Given the description of an element on the screen output the (x, y) to click on. 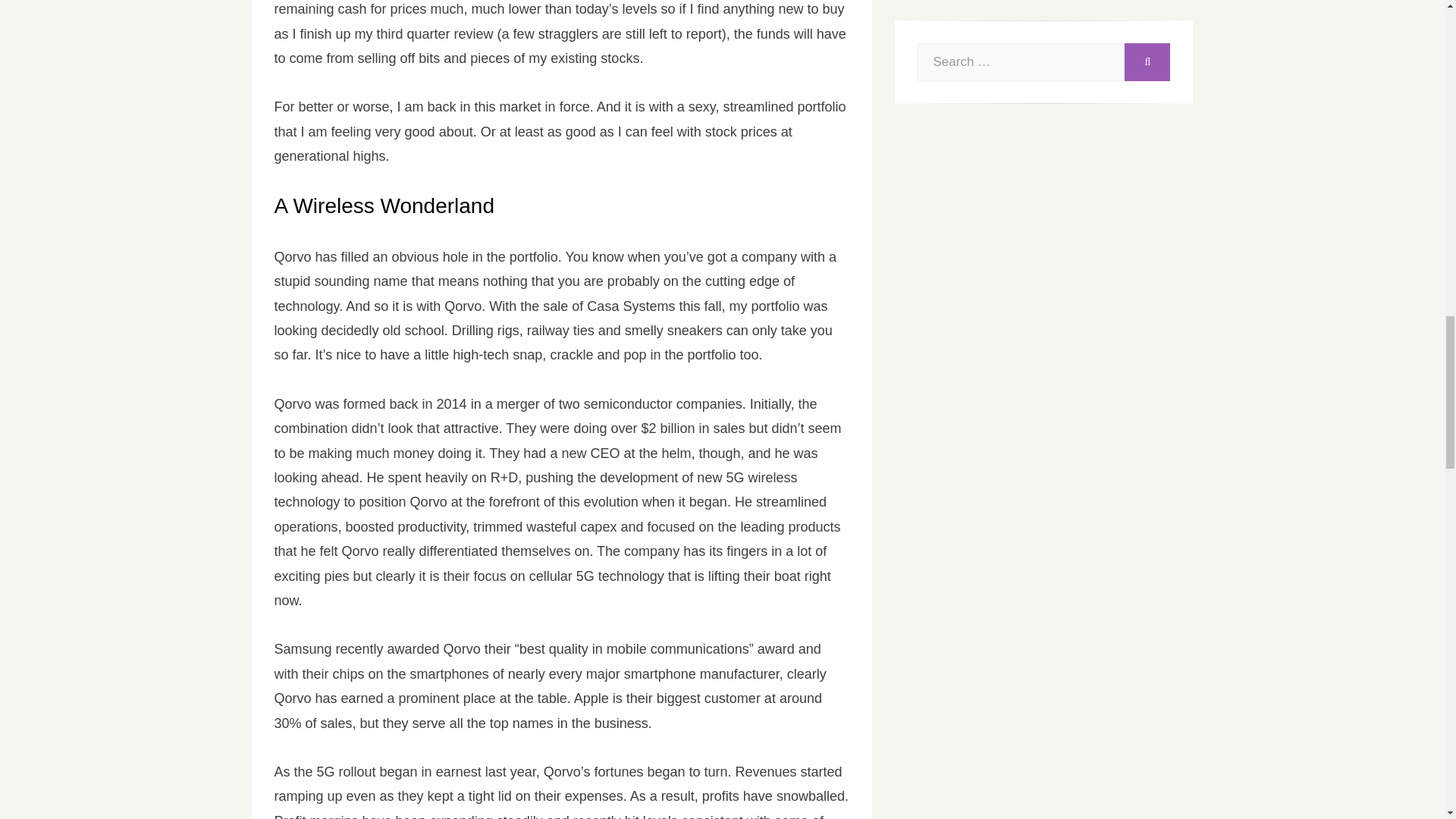
Search for: (1021, 62)
SEARCH (1147, 62)
